Given the description of an element on the screen output the (x, y) to click on. 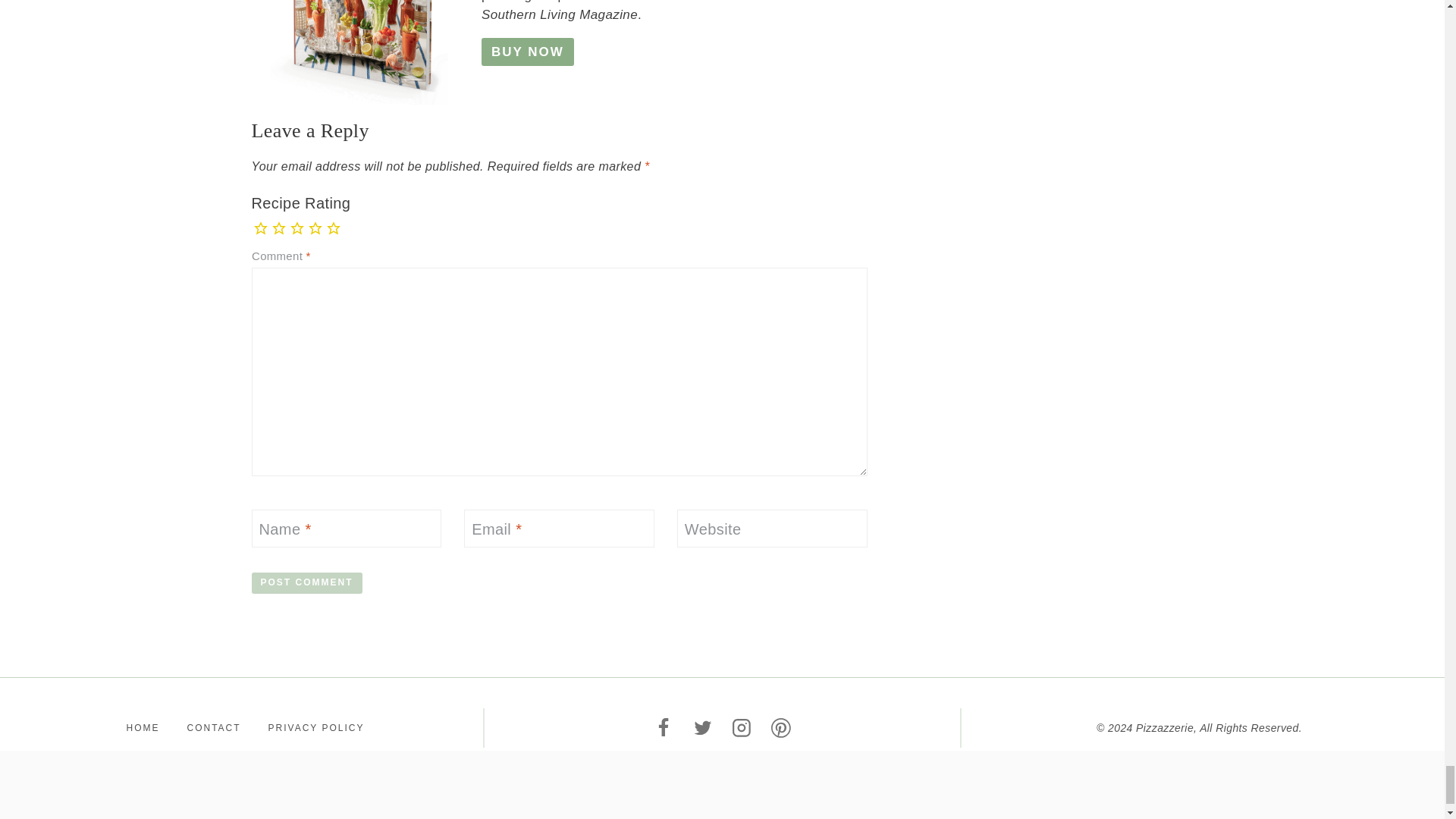
Post Comment (306, 583)
